Given the description of an element on the screen output the (x, y) to click on. 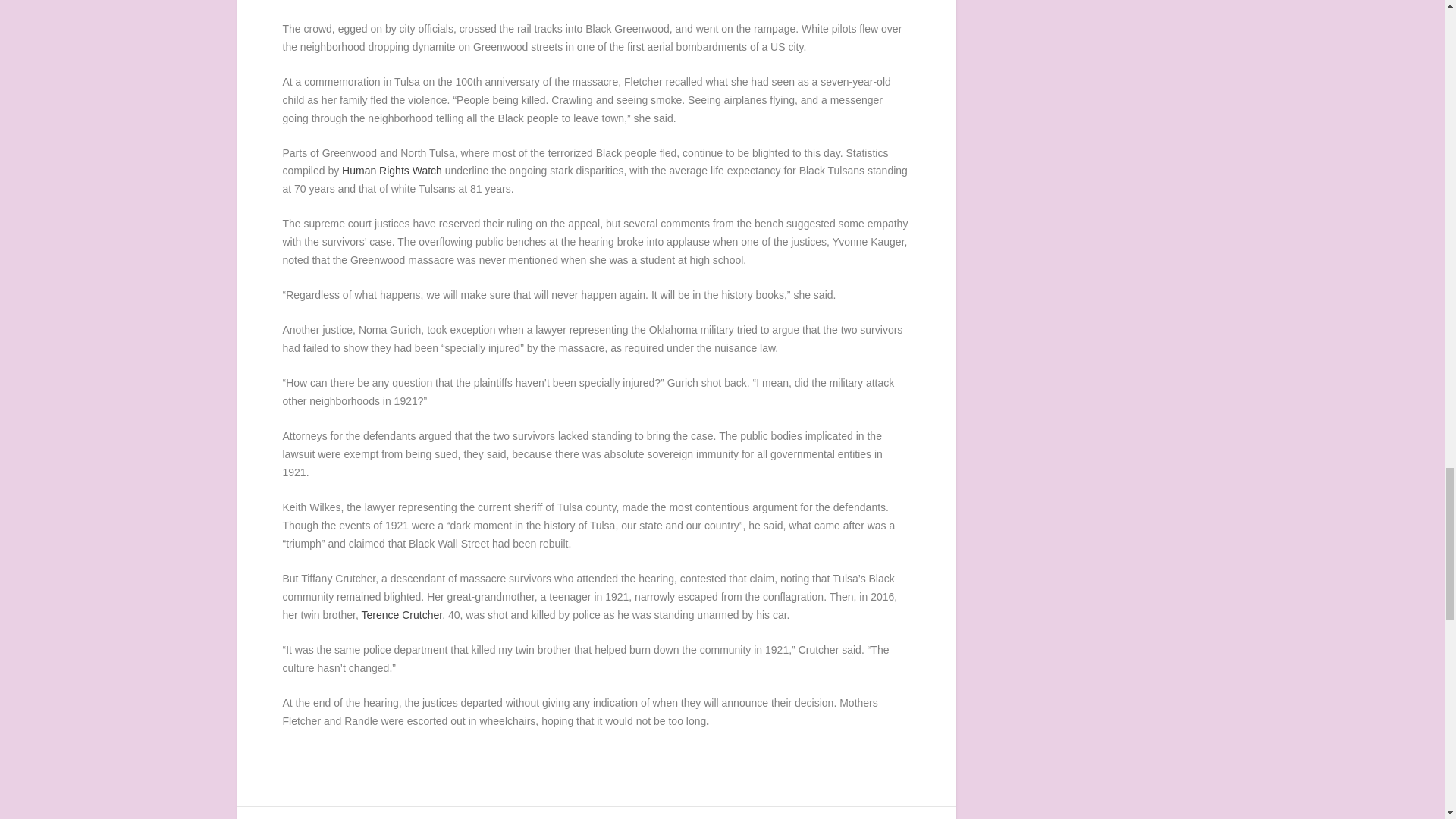
Terence Crutcher (401, 614)
Human Rights Watch (392, 170)
